Given the description of an element on the screen output the (x, y) to click on. 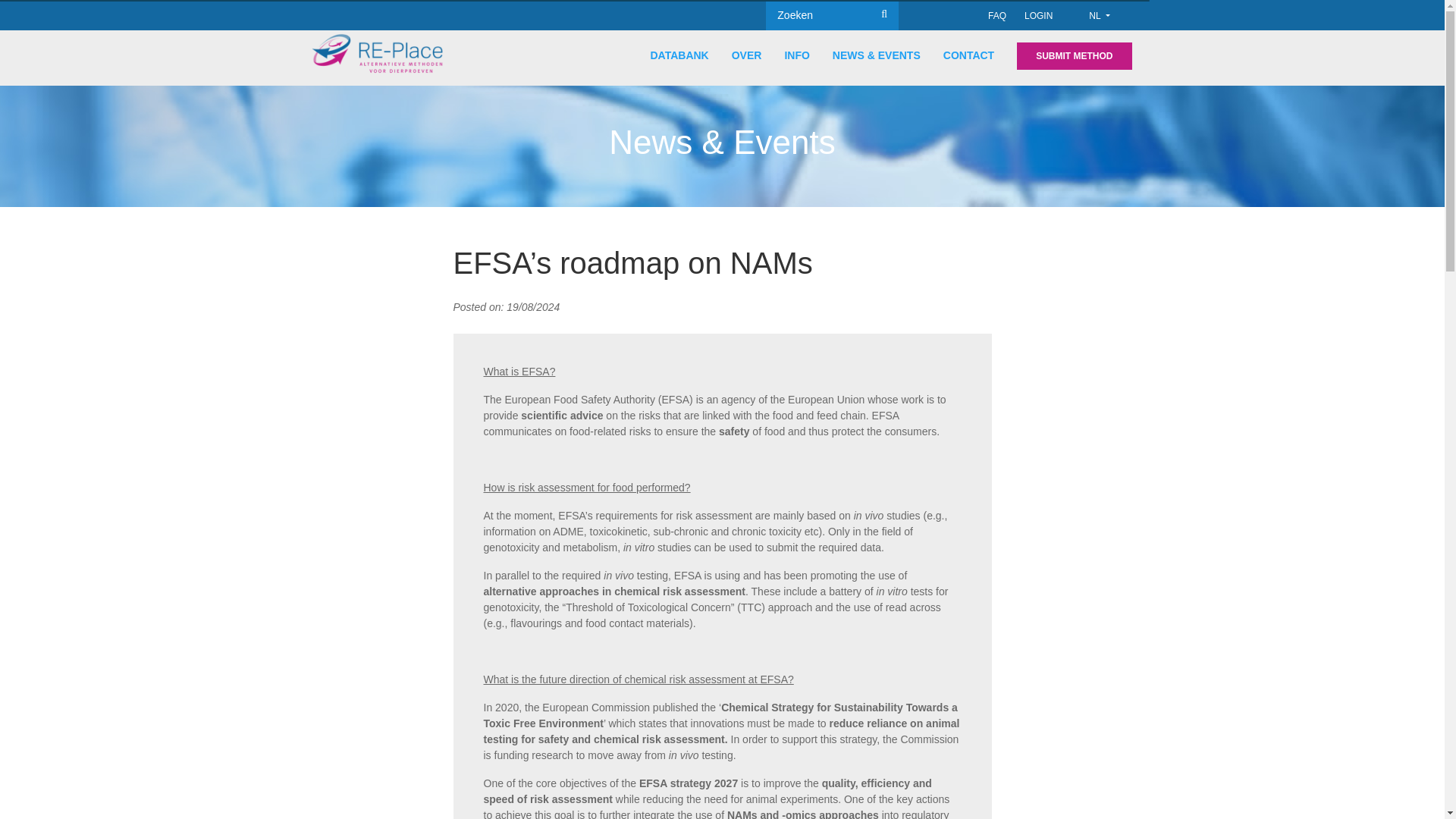
OVER (746, 55)
CONTACT (968, 55)
DATABANK (678, 55)
NL (1098, 15)
LOGIN (1038, 15)
INFO (796, 55)
SUBMIT METHOD (1073, 55)
Enter the terms you wish to search for. (831, 15)
Zoeken (38, 14)
